Given the description of an element on the screen output the (x, y) to click on. 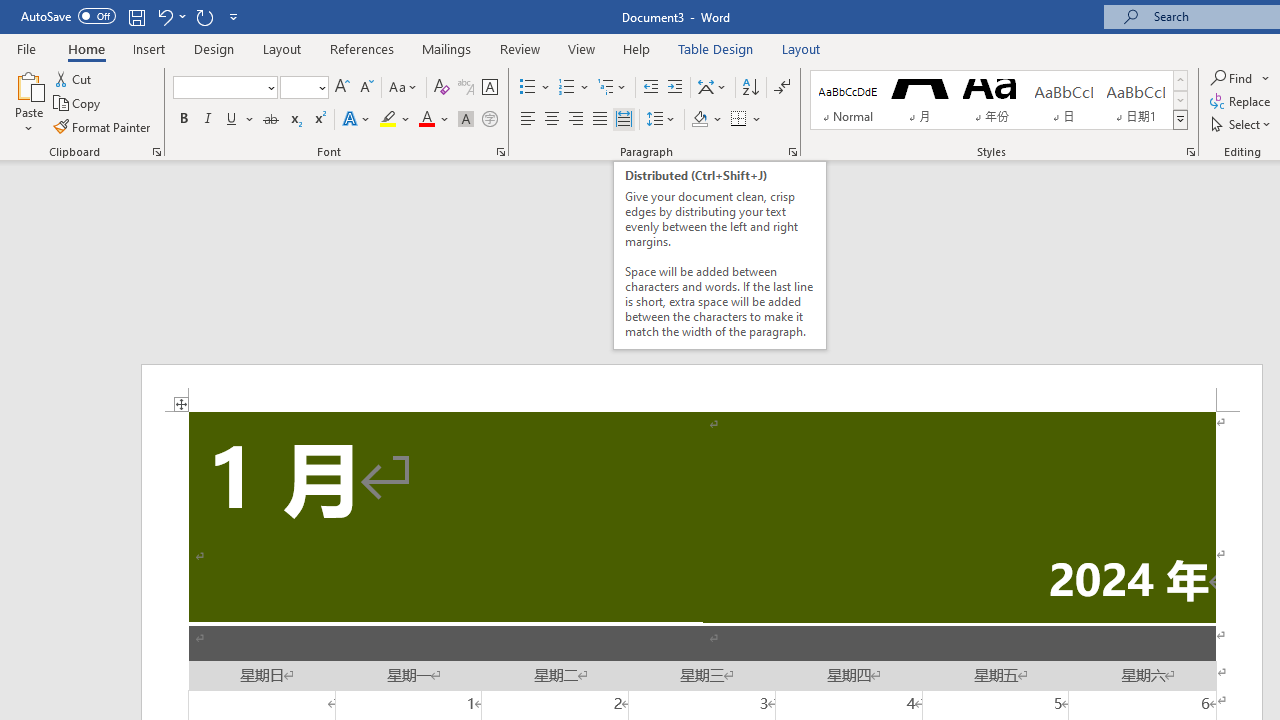
Select (1242, 124)
Repeat Doc Close (204, 15)
AutomationID: QuickStylesGallery (999, 99)
